Given the description of an element on the screen output the (x, y) to click on. 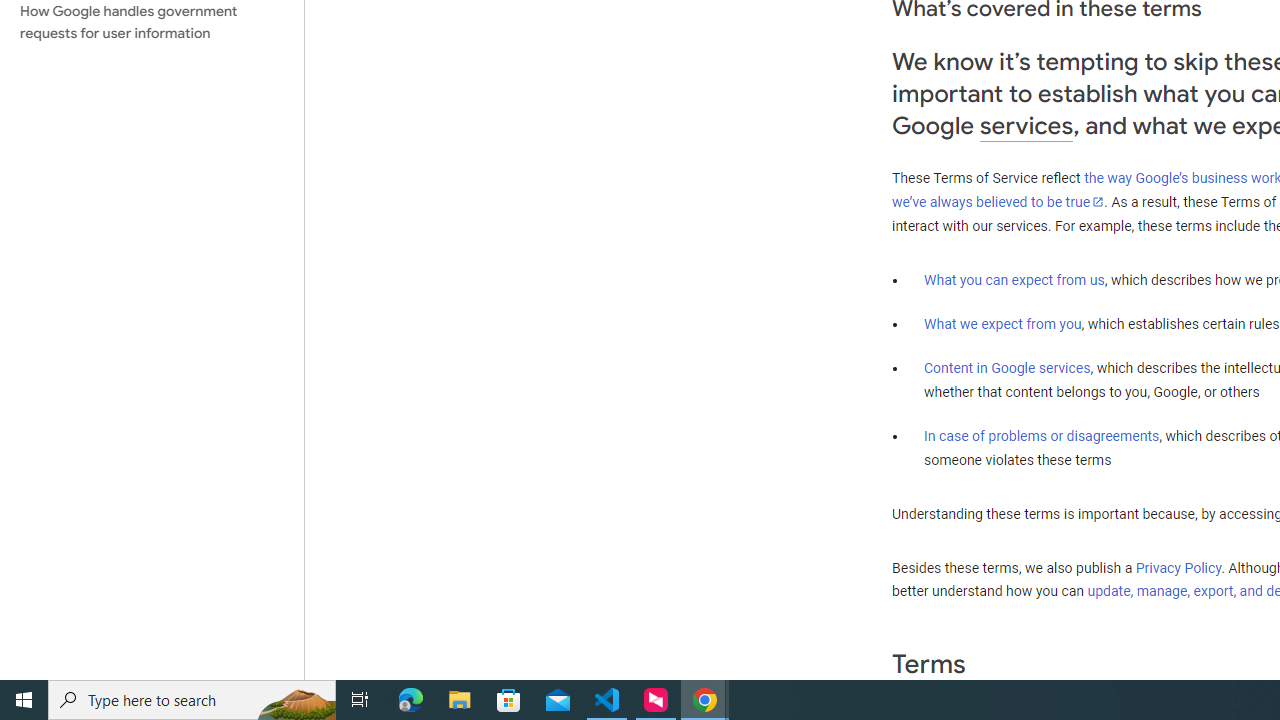
What you can expect from us (1014, 279)
Content in Google services (1007, 368)
What we expect from you (1002, 323)
In case of problems or disagreements (1041, 435)
services (1026, 125)
